Given the description of an element on the screen output the (x, y) to click on. 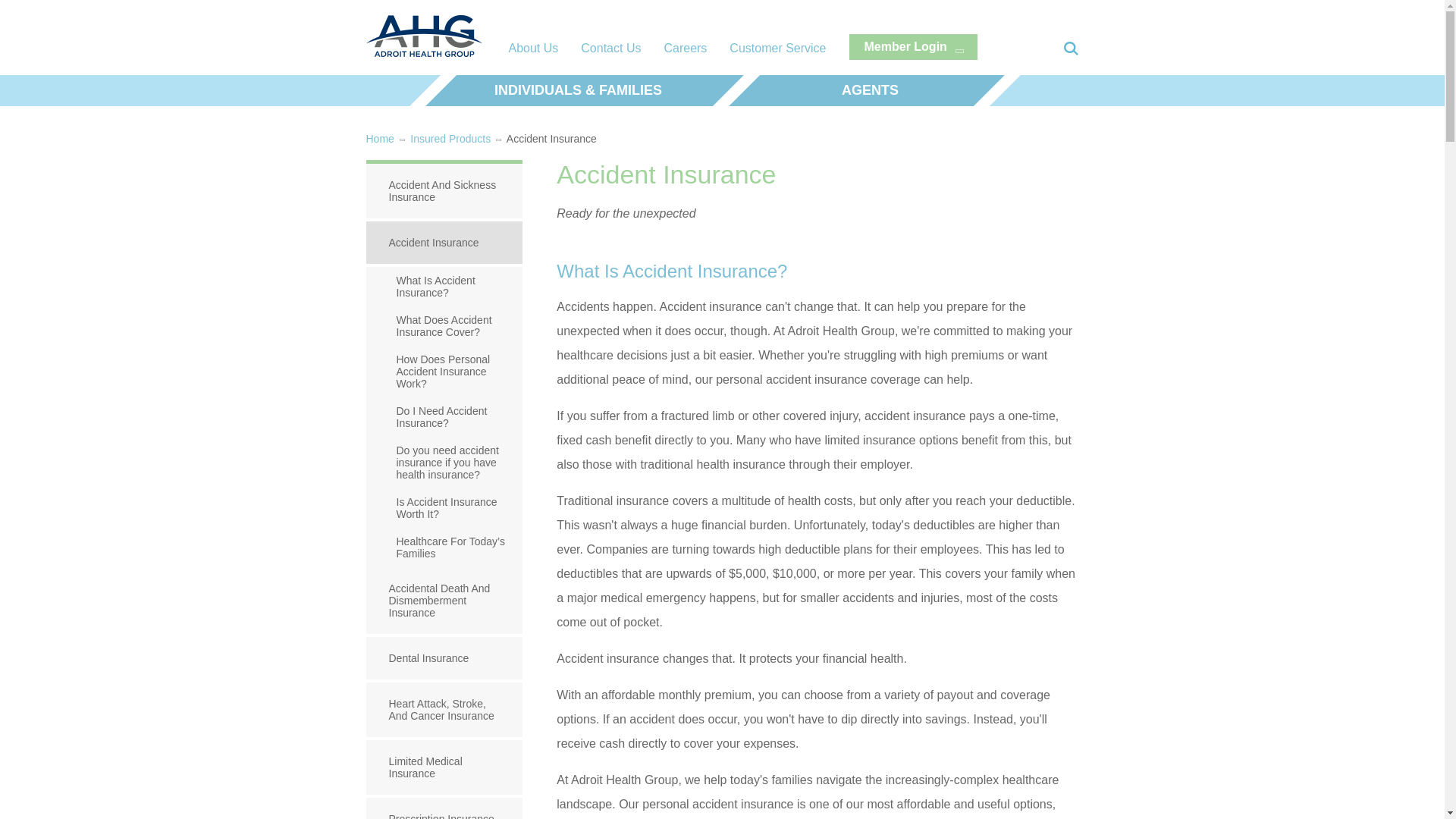
Do you need accident insurance if you have health insurance? (443, 462)
What Is Accident Insurance? (443, 286)
Prescription Insurance (443, 808)
Is Accident Insurance Worth It? (443, 507)
AGENTS (870, 90)
Insured Products (450, 138)
Contact Us (610, 47)
Accidental Death And Dismemberment Insurance (443, 602)
Customer Service (777, 47)
Do I Need Accident Insurance? (443, 416)
